Given the description of an element on the screen output the (x, y) to click on. 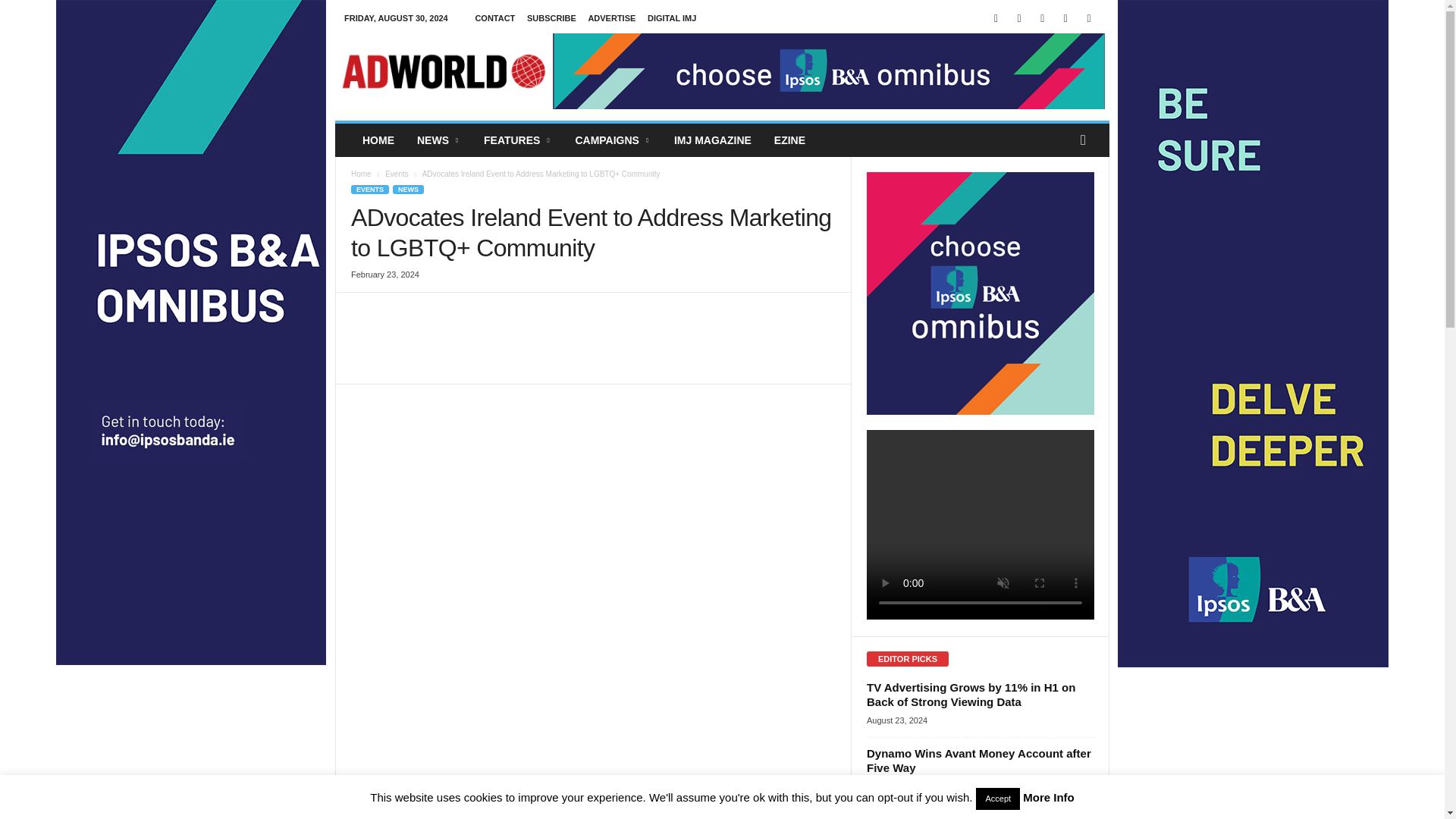
SUBSCRIBE (551, 17)
Adworld Logo (442, 71)
DIGITAL IMJ (671, 17)
ADVERTISE (611, 17)
NEWS (438, 140)
CONTACT (494, 17)
AdWorld.ie (442, 70)
HOME (378, 140)
